Given the description of an element on the screen output the (x, y) to click on. 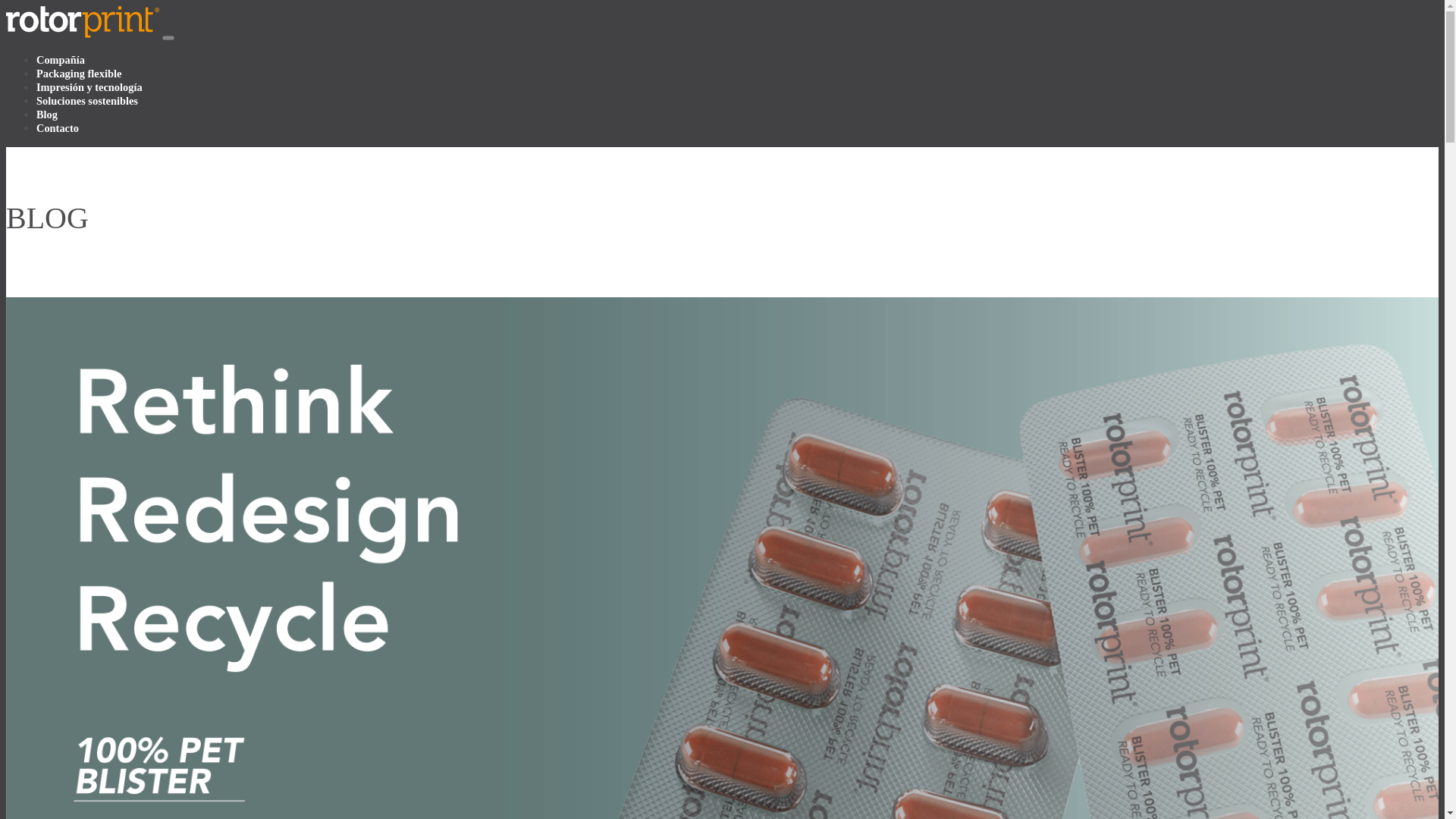
Soluciones sostenibles (87, 101)
Packaging flexible (78, 73)
Contacto (57, 128)
Blog (47, 114)
